Given the description of an element on the screen output the (x, y) to click on. 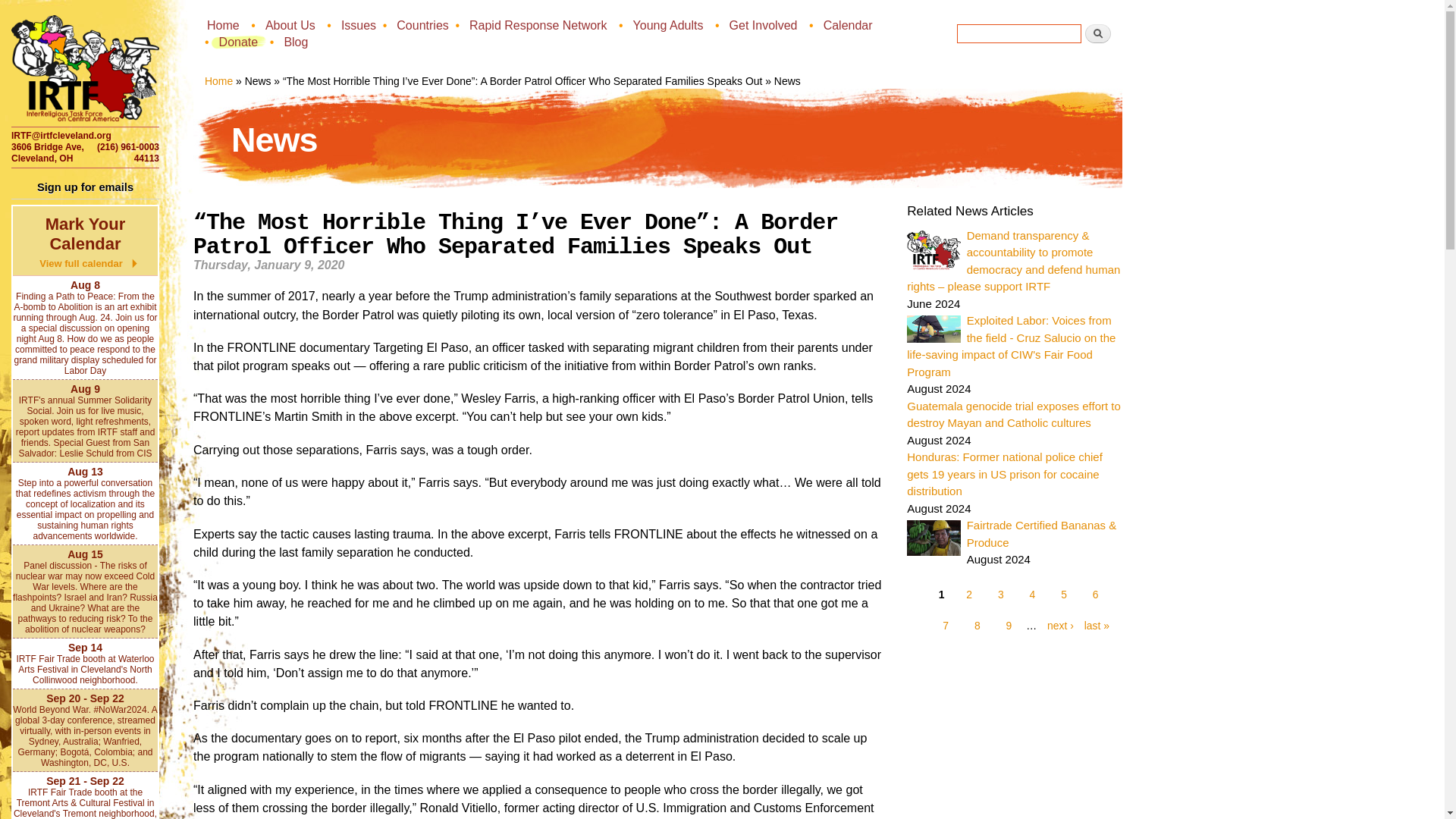
Search (1097, 33)
Young Adults (669, 24)
Rapid Response Network (539, 24)
Home (218, 80)
Go to last page (1093, 625)
Calendar (849, 24)
Donate (239, 41)
Skip to main content (687, 17)
Go to page 5 (1063, 594)
Go to page 2 (969, 594)
Go to next page (1056, 625)
Search (1097, 33)
About Us (291, 24)
Go to page 4 (1031, 594)
Go to page 8 (976, 625)
